Given the description of an element on the screen output the (x, y) to click on. 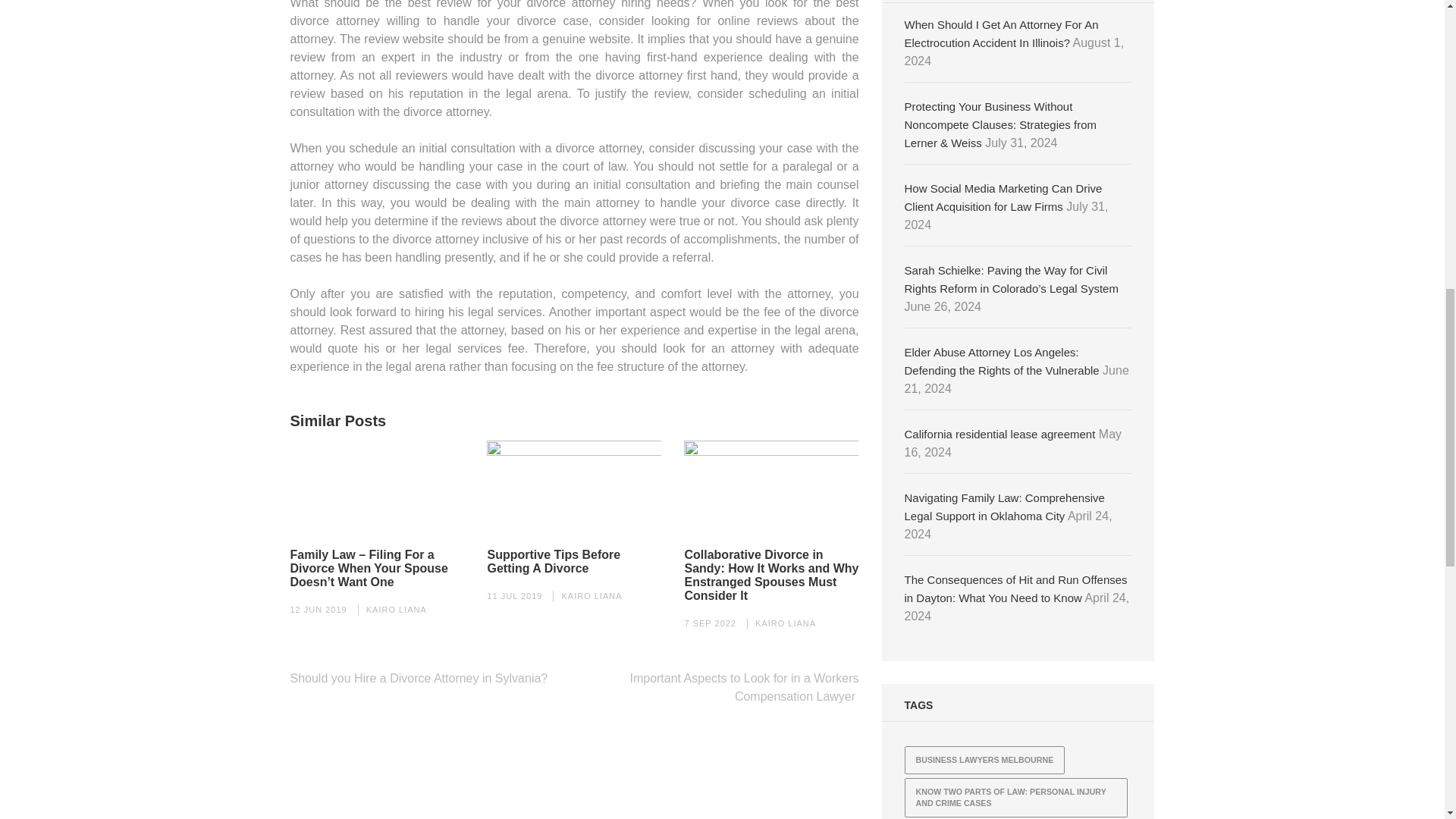
KAIRO LIANA (396, 609)
12 JUN 2019 (317, 609)
